Given the description of an element on the screen output the (x, y) to click on. 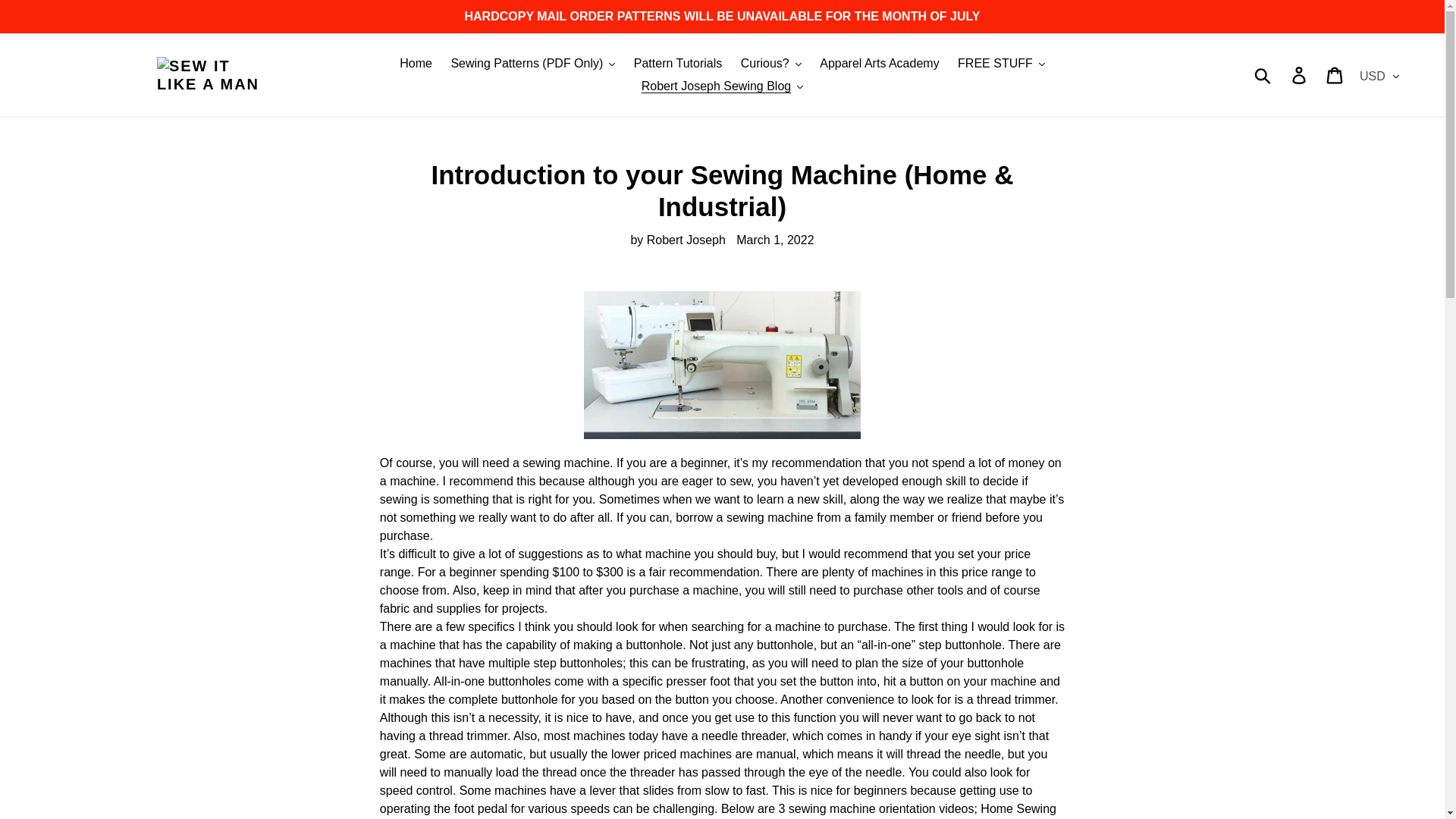
Apparel Arts Academy (879, 63)
Submit (1263, 74)
Cart (1335, 74)
Log in (1299, 74)
Pattern Tutorials (678, 63)
Home (415, 63)
